Given the description of an element on the screen output the (x, y) to click on. 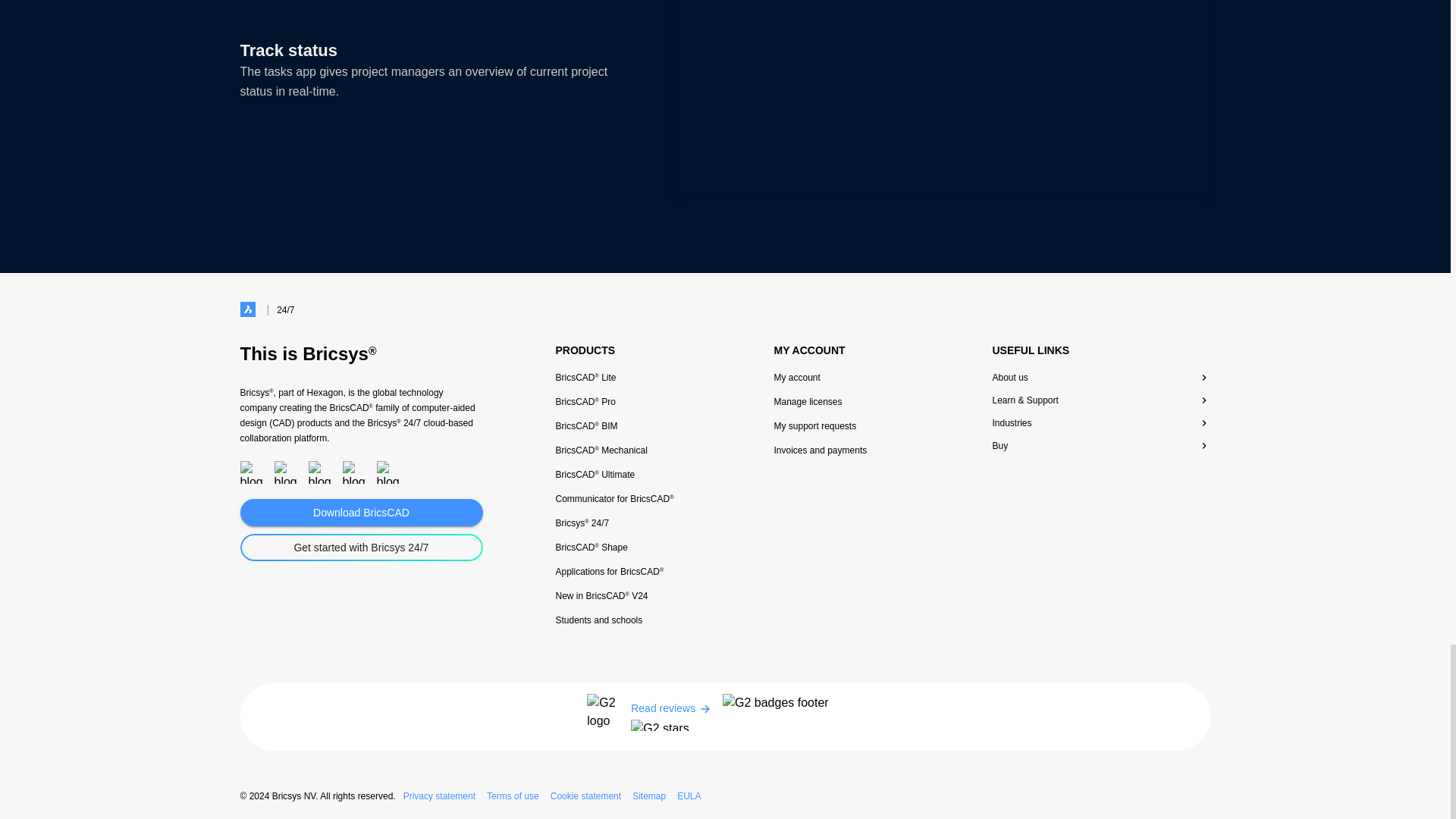
G2 badges footer (792, 716)
blog-linkedin-icon (386, 472)
blog-facebook-icon (251, 472)
247-tasks (940, 98)
blog-youtube-icon (353, 472)
blog-instagram-icon (318, 472)
G2 stars rating (668, 725)
blog-X-icon (286, 472)
